Given the description of an element on the screen output the (x, y) to click on. 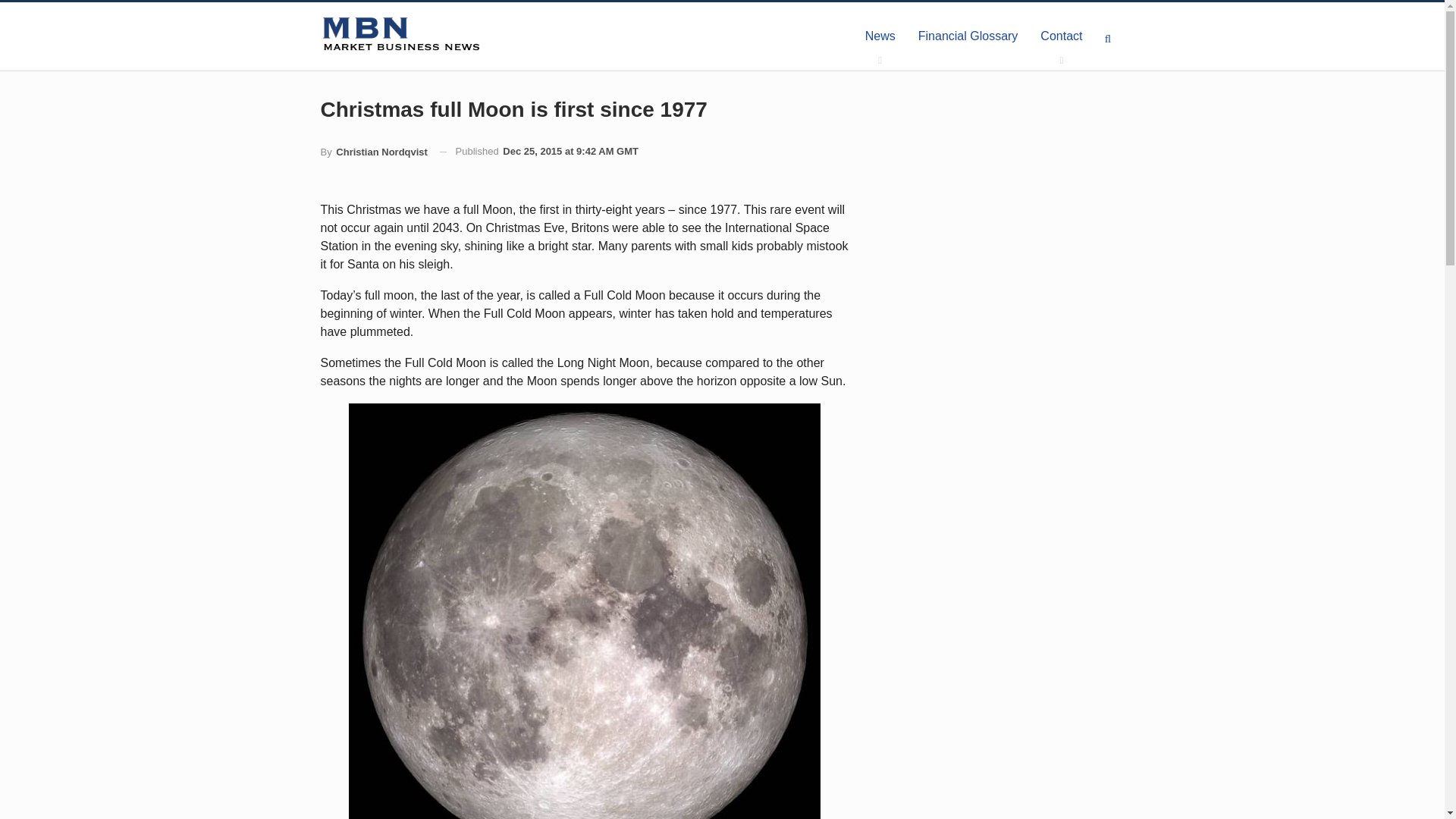
By Christian Nordqvist (373, 152)
Browse Author Articles (373, 152)
Contact (1061, 36)
Financial Glossary (968, 36)
